Given the description of an element on the screen output the (x, y) to click on. 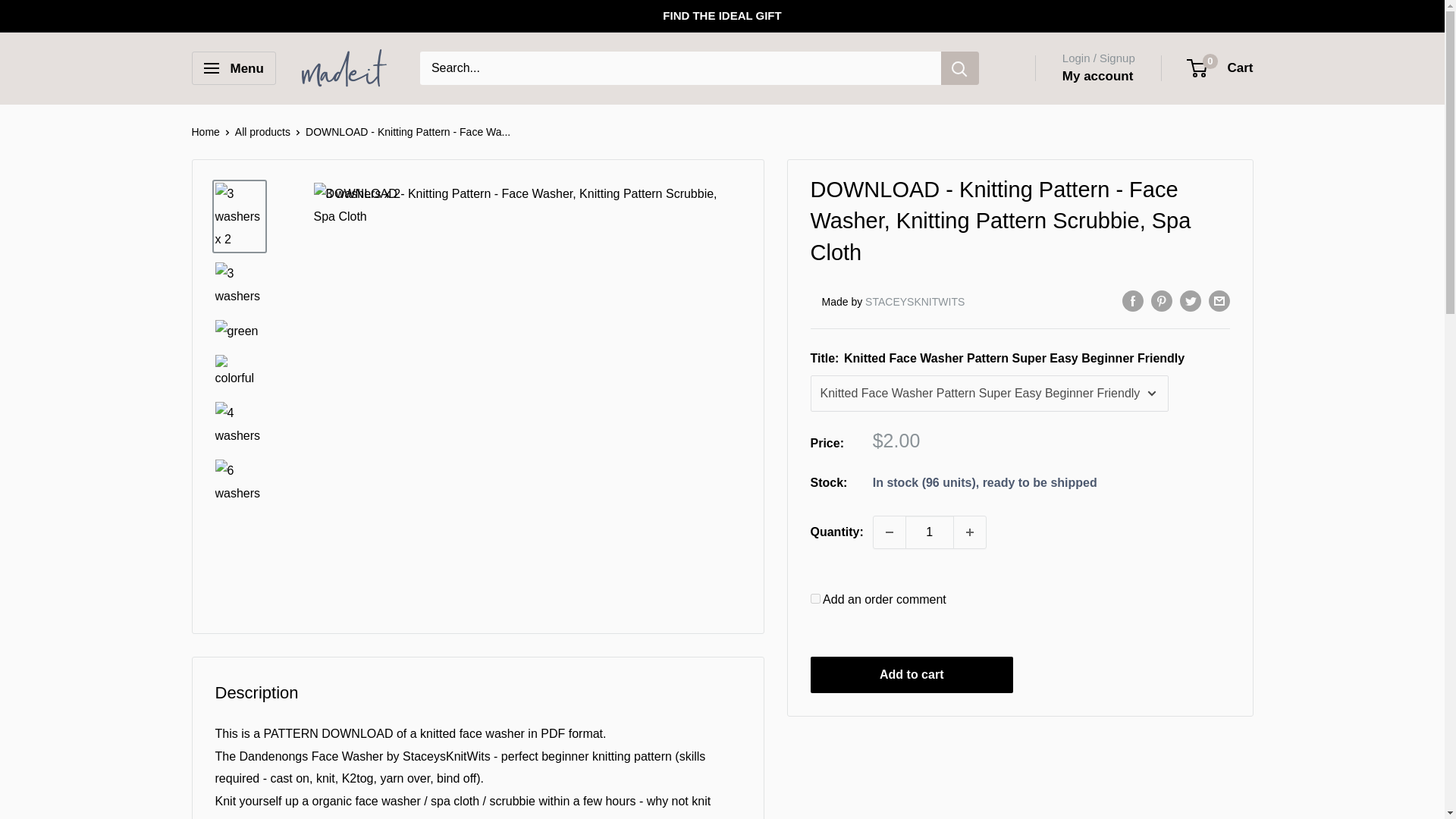
1 (929, 531)
on (814, 598)
FIND THE IDEAL GIFT (721, 15)
Decrease quantity by 1 (889, 531)
Increase quantity by 1 (969, 531)
